Given the description of an element on the screen output the (x, y) to click on. 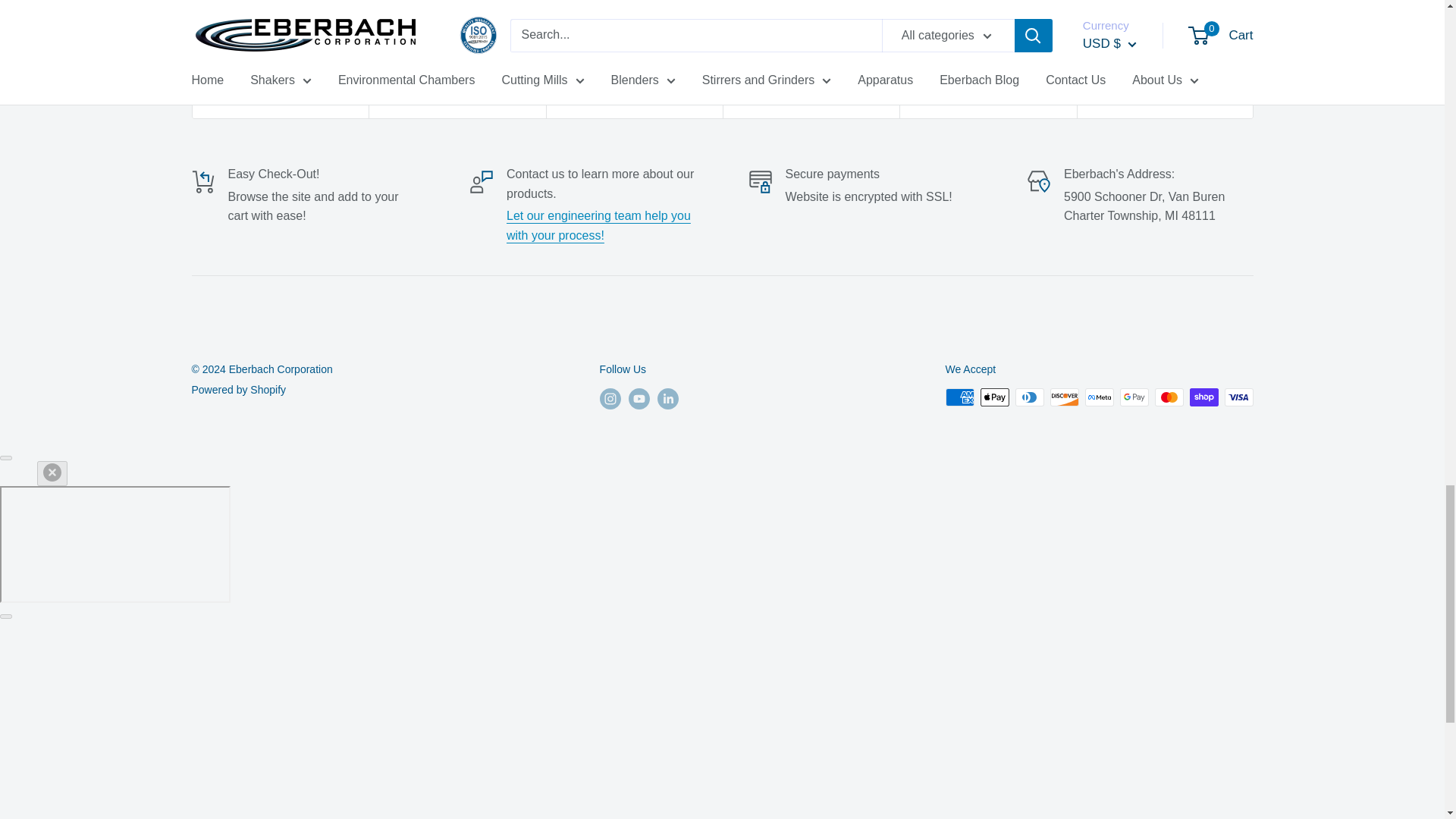
Contact Us (598, 225)
